Given the description of an element on the screen output the (x, y) to click on. 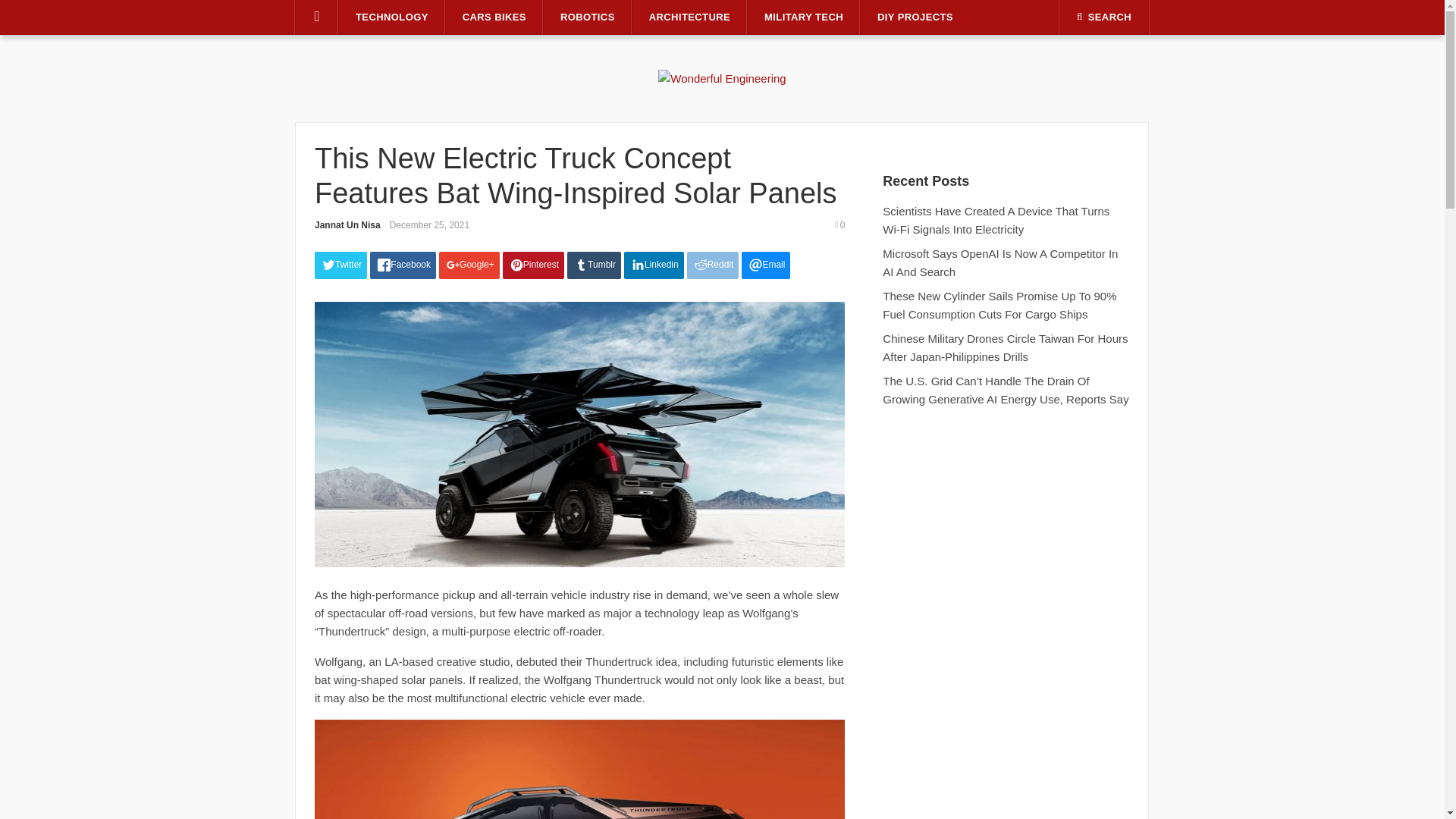
TECHNOLOGY (392, 17)
ROBOTICS (587, 17)
Facebook (402, 265)
Tumblr (594, 265)
Twitter (340, 265)
MILITARY TECH (804, 17)
CARS BIKES (494, 17)
DIY PROJECTS (914, 17)
Pinterest (533, 265)
Linkedin (654, 265)
Reddit (713, 265)
ARCHITECTURE (688, 17)
Jannat Un Nisa (347, 225)
Email (765, 265)
SEARCH (1104, 16)
